Given the description of an element on the screen output the (x, y) to click on. 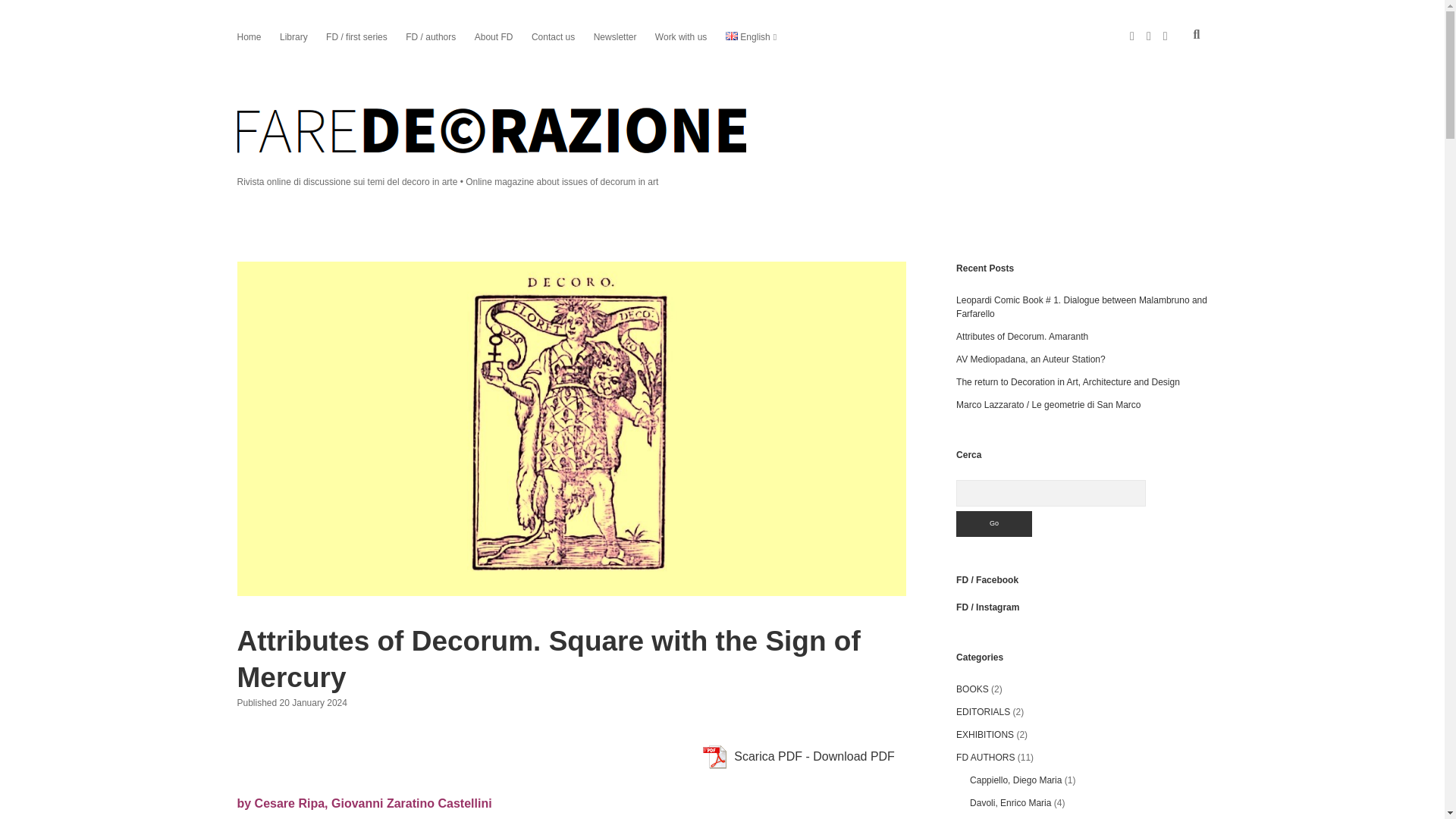
Go (994, 524)
Home (247, 37)
Contact us (553, 37)
Scarica PDF - Download PDF (798, 757)
Newsletter (615, 37)
View PDF (714, 757)
About FD (493, 37)
English (747, 37)
Work with us (680, 37)
Library (293, 37)
